Given the description of an element on the screen output the (x, y) to click on. 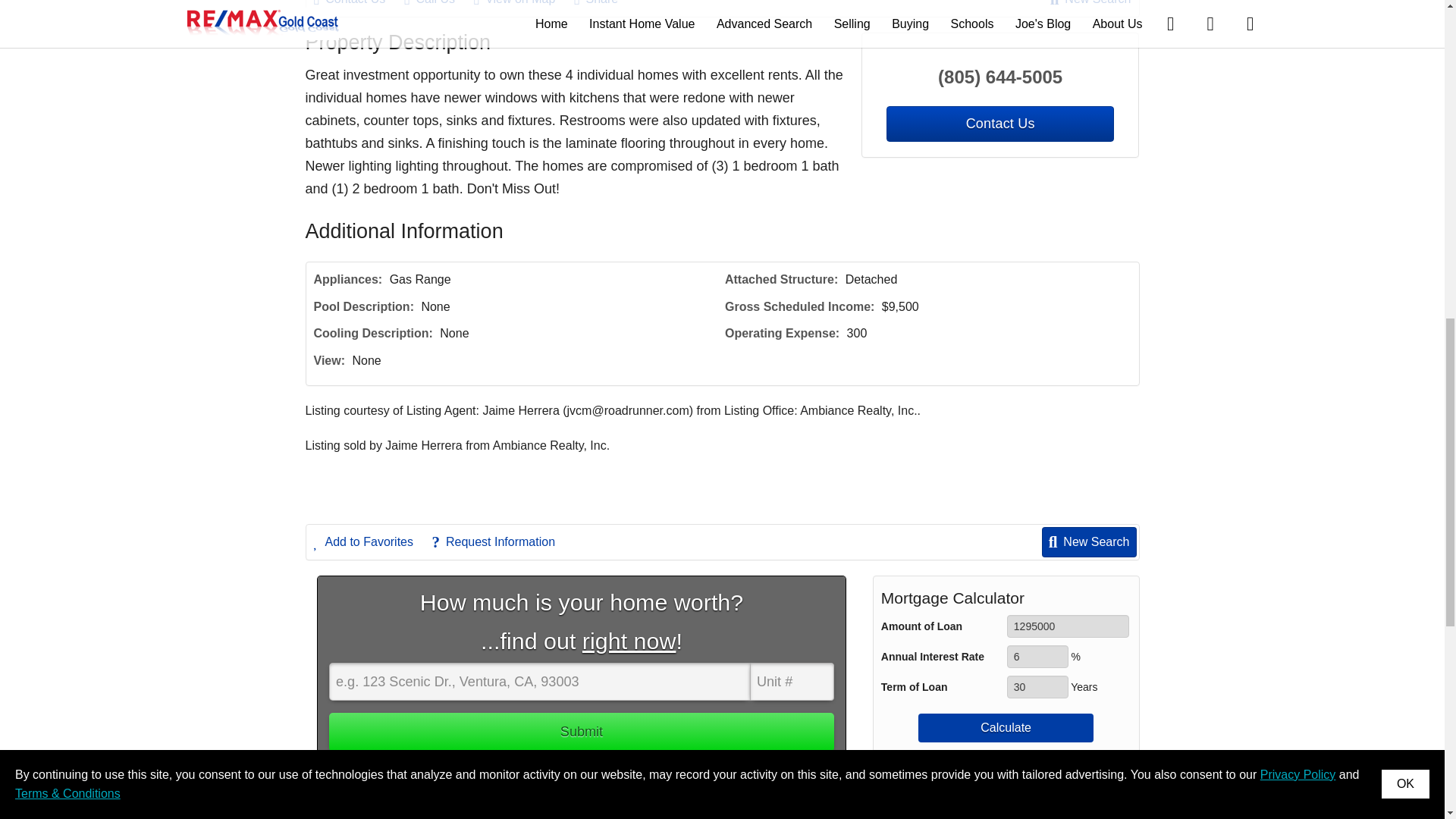
Contact Us (357, 5)
6 (1037, 656)
Contact Us (999, 123)
30 (1037, 686)
1295000 (1068, 626)
View on Map (521, 5)
Call Us (437, 5)
Share (603, 5)
New Search (1090, 5)
